Given the description of an element on the screen output the (x, y) to click on. 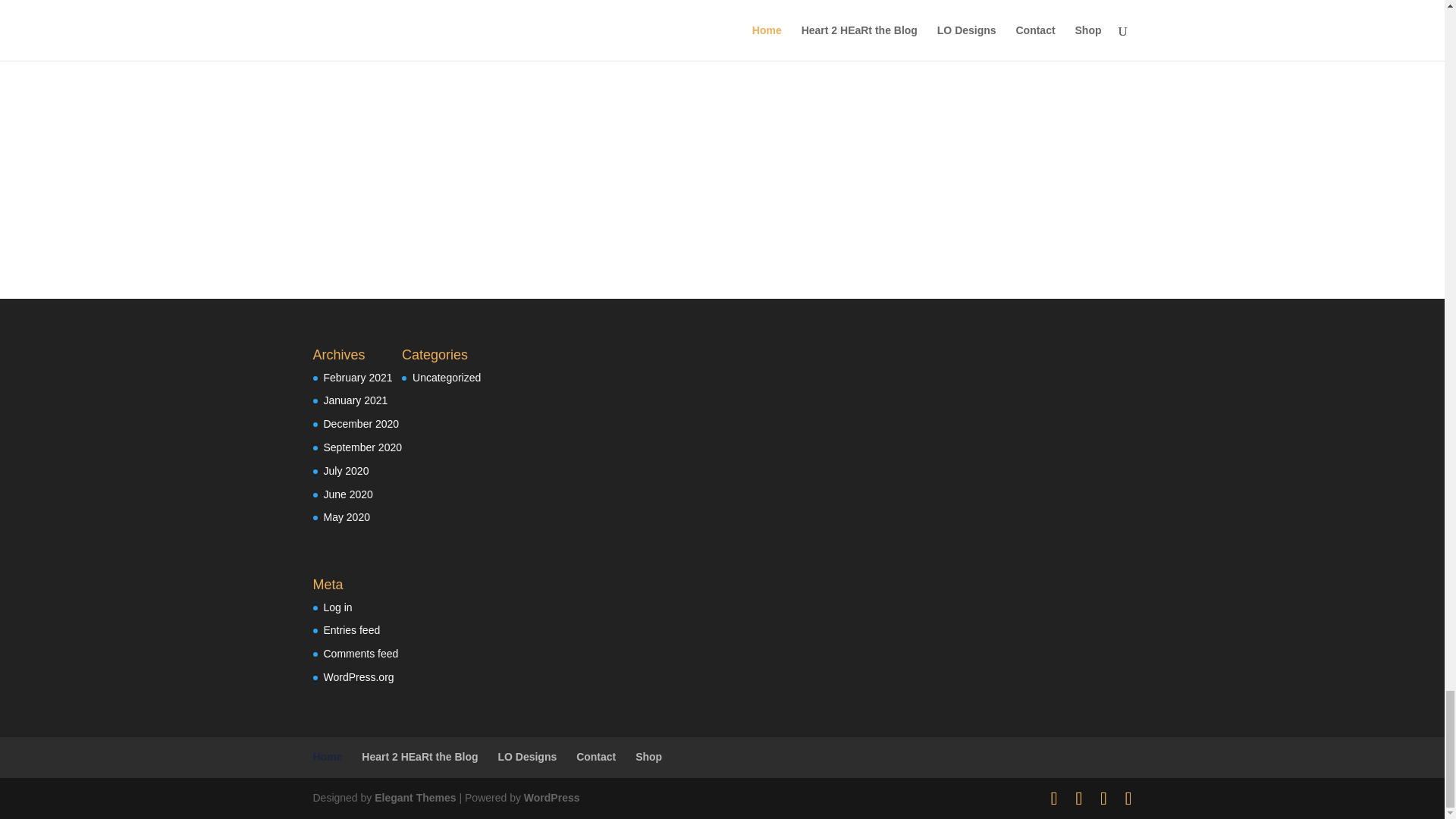
WordPress.org (358, 676)
Home (327, 756)
Heart 2 HEaRt the Blog (419, 756)
LO Designs (526, 756)
Log in (337, 607)
December 2020 (360, 423)
Elegant Themes (414, 797)
July 2020 (345, 470)
Contact (595, 756)
Uncategorized (446, 377)
WordPress (551, 797)
Comments feed (360, 653)
February 2021 (357, 377)
June 2020 (347, 494)
Premium WordPress Themes (414, 797)
